Given the description of an element on the screen output the (x, y) to click on. 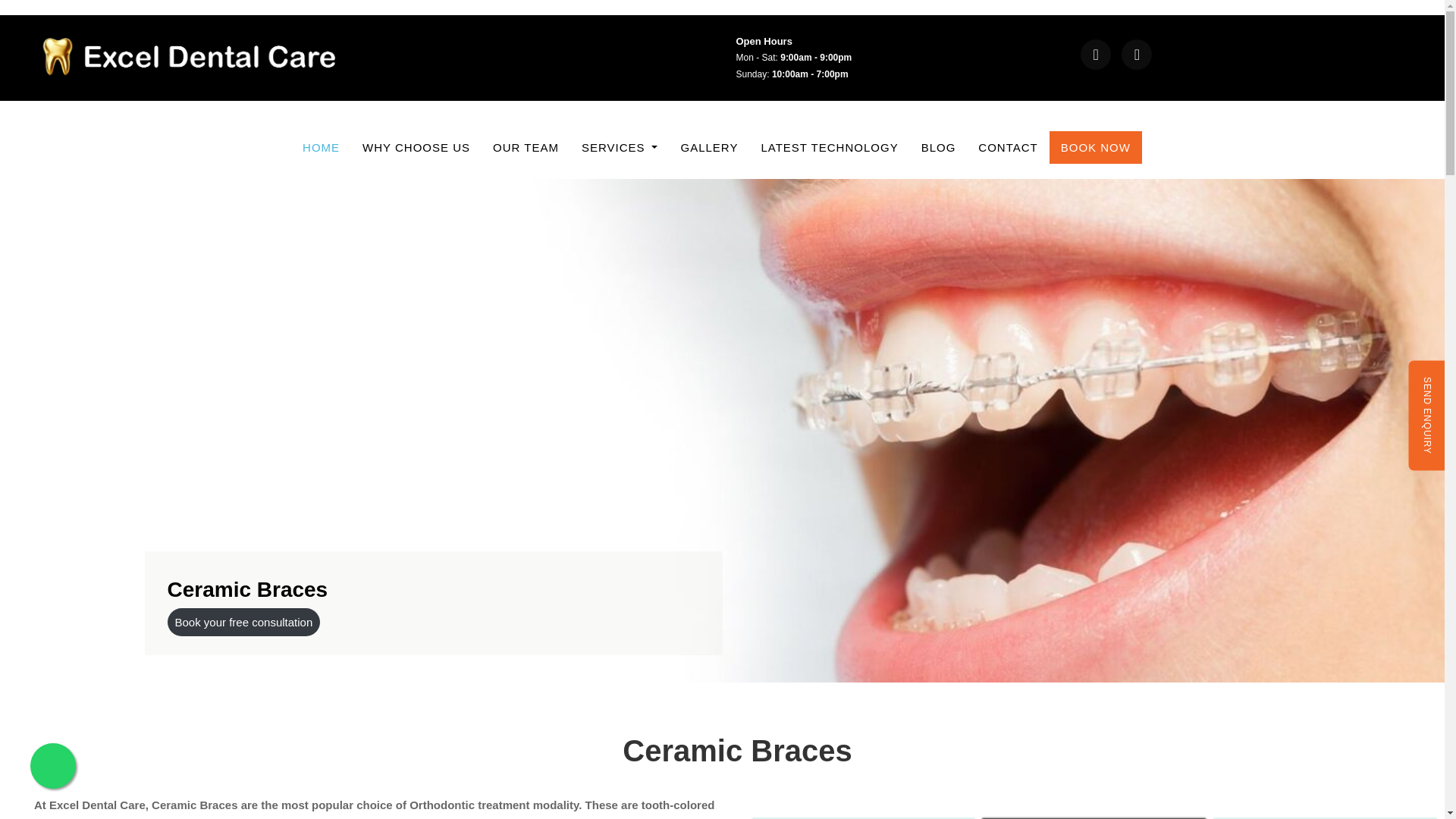
SERVICES (619, 147)
HOME (326, 147)
WHY CHOOSE US (415, 147)
OUR TEAM (525, 147)
